Given the description of an element on the screen output the (x, y) to click on. 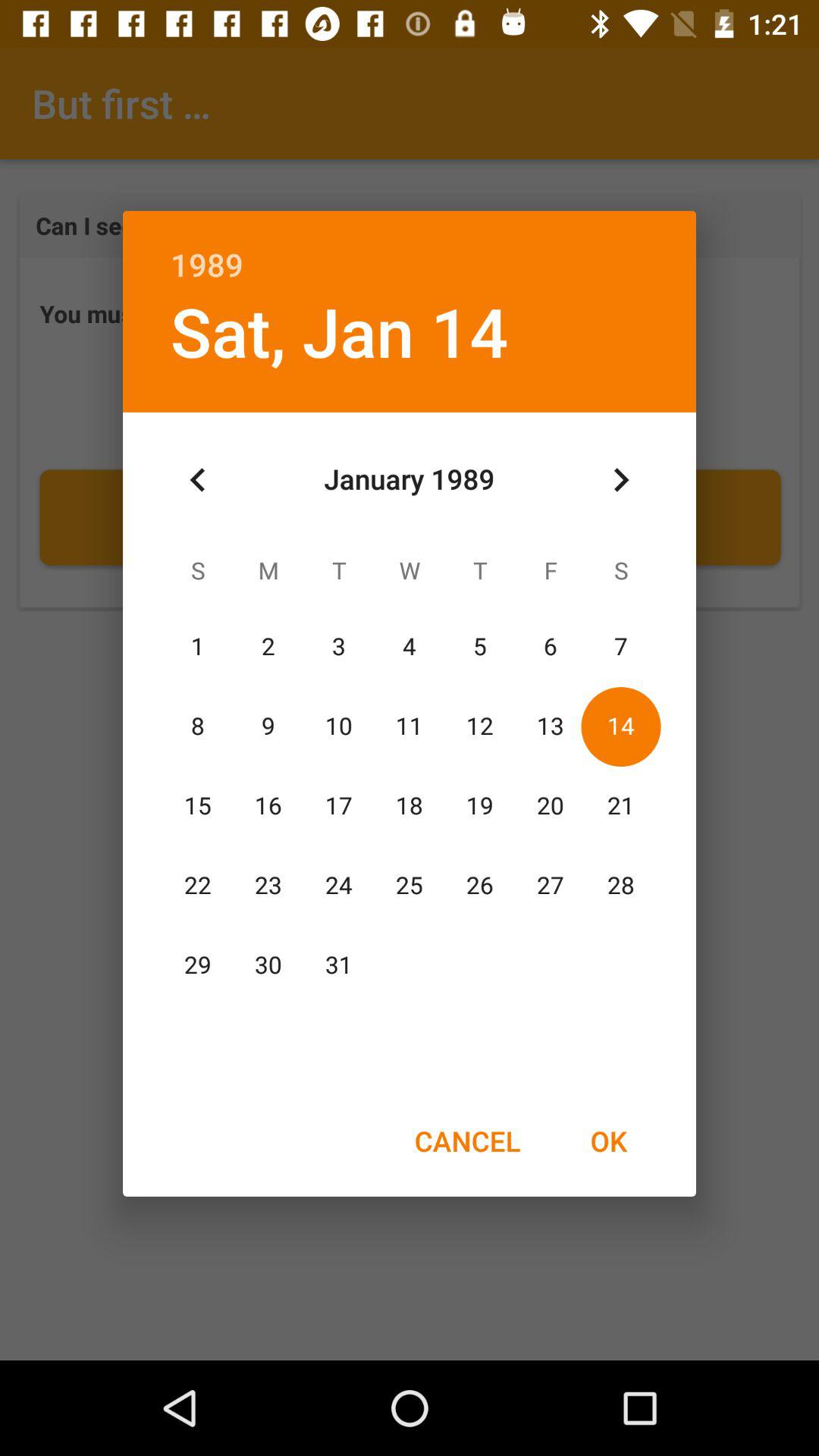
open the cancel (467, 1140)
